Given the description of an element on the screen output the (x, y) to click on. 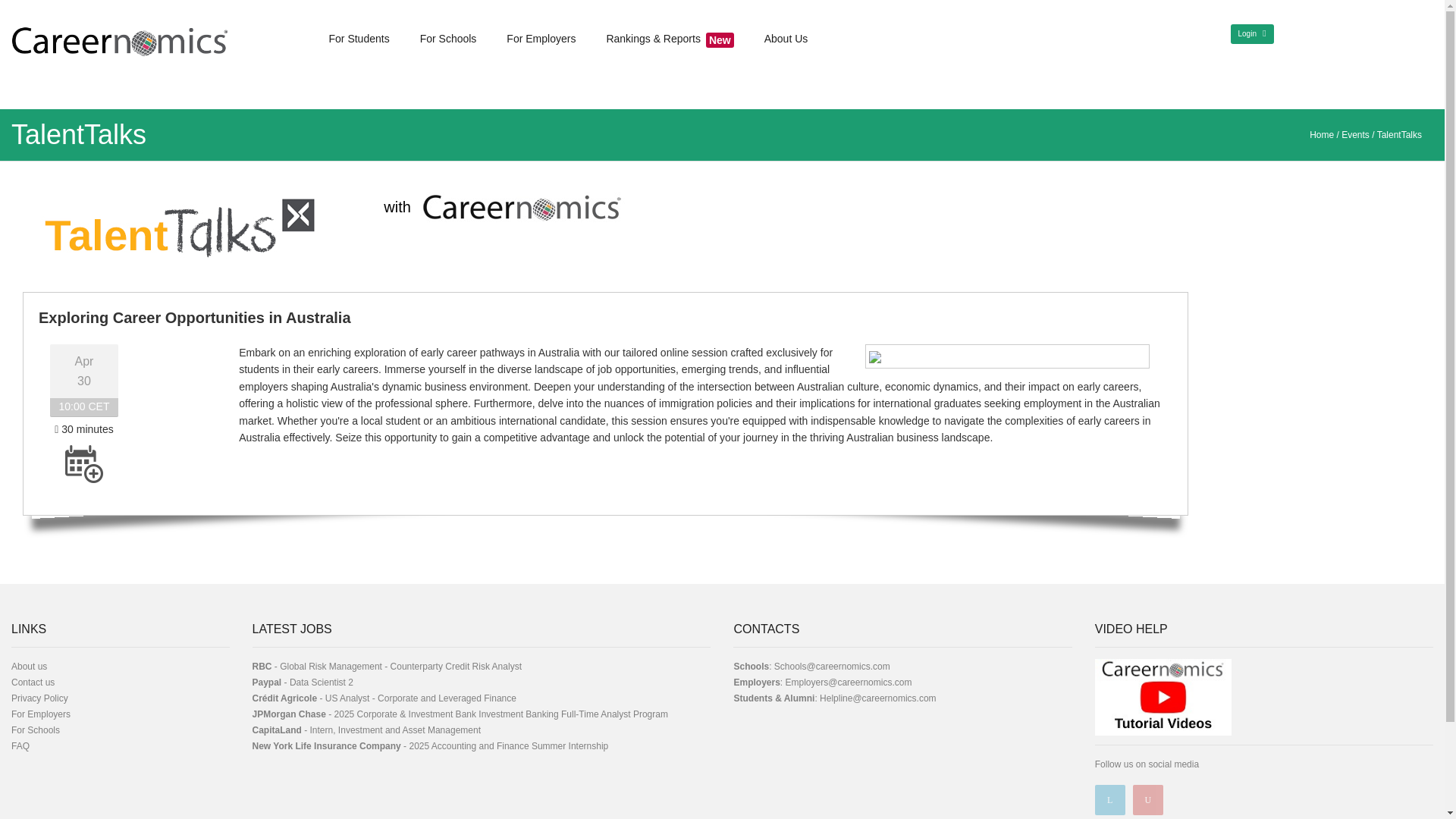
For Employers (40, 714)
Login   (1251, 34)
Home (1320, 134)
For Schools (35, 729)
US Analyst - Corporate and Leveraged Finance (420, 697)
For Schools (448, 38)
For Students (359, 38)
Global Risk Management - Counterparty Credit Risk Analyst (400, 665)
Contact us (33, 682)
Data Scientist 2 (321, 682)
